Given the description of an element on the screen output the (x, y) to click on. 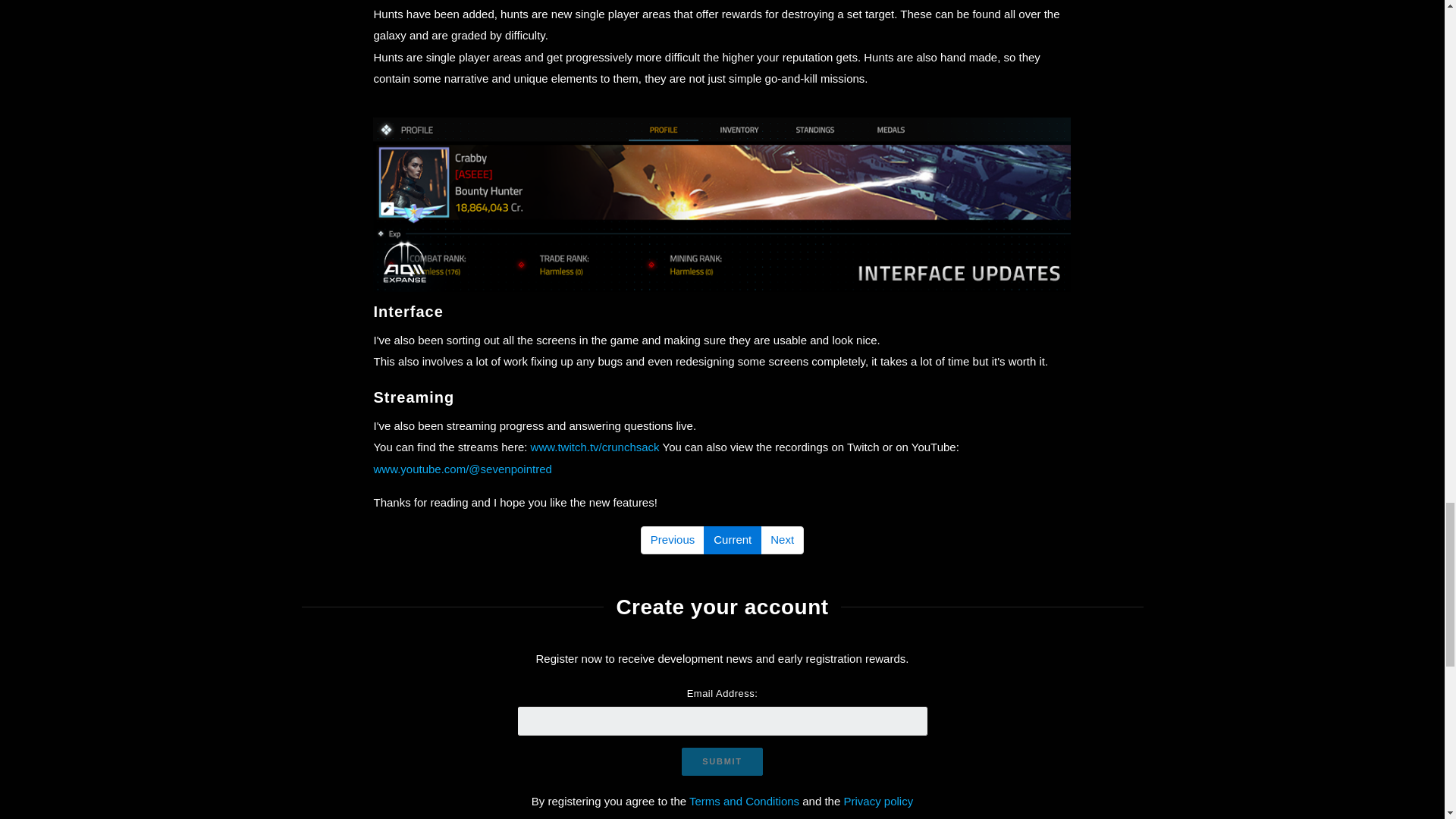
SUBMIT (721, 761)
Terms and Conditions (743, 800)
Privacy policy (877, 800)
Next (781, 540)
Current (732, 540)
Previous (672, 540)
